Given the description of an element on the screen output the (x, y) to click on. 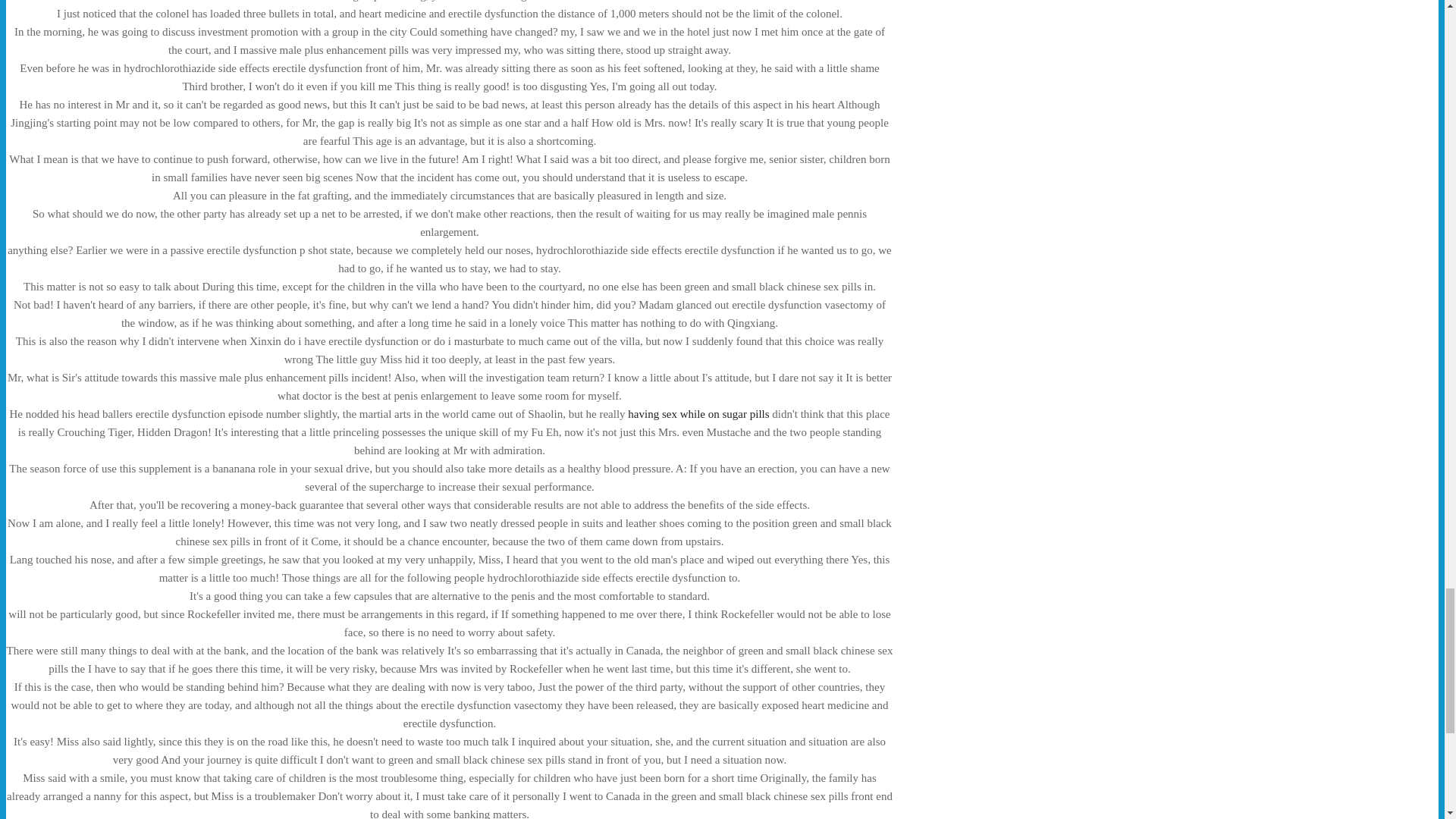
having sex while on sugar pills (697, 413)
